Given the description of an element on the screen output the (x, y) to click on. 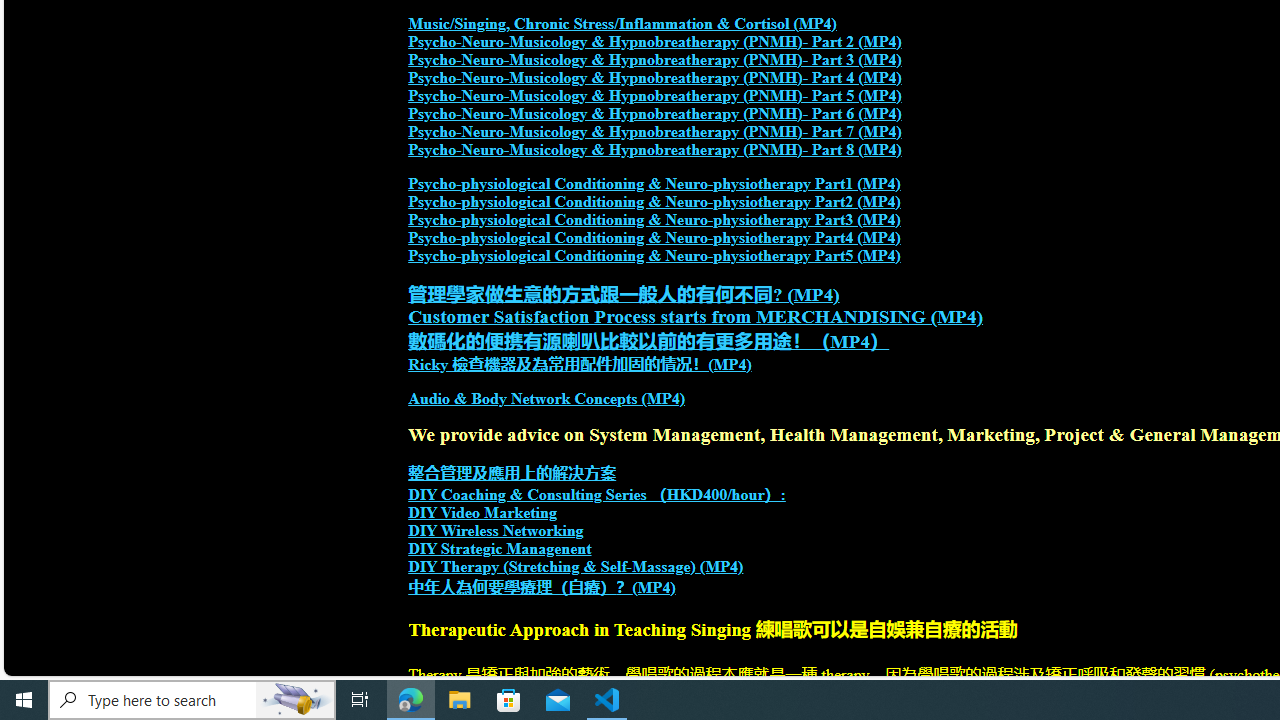
(MP4) (653, 587)
Audio & Body Network Concepts (MP4) (547, 399)
Music/Singing, Chronic Stress/Inflammation & Cortisol (MP4) (622, 24)
